Given the description of an element on the screen output the (x, y) to click on. 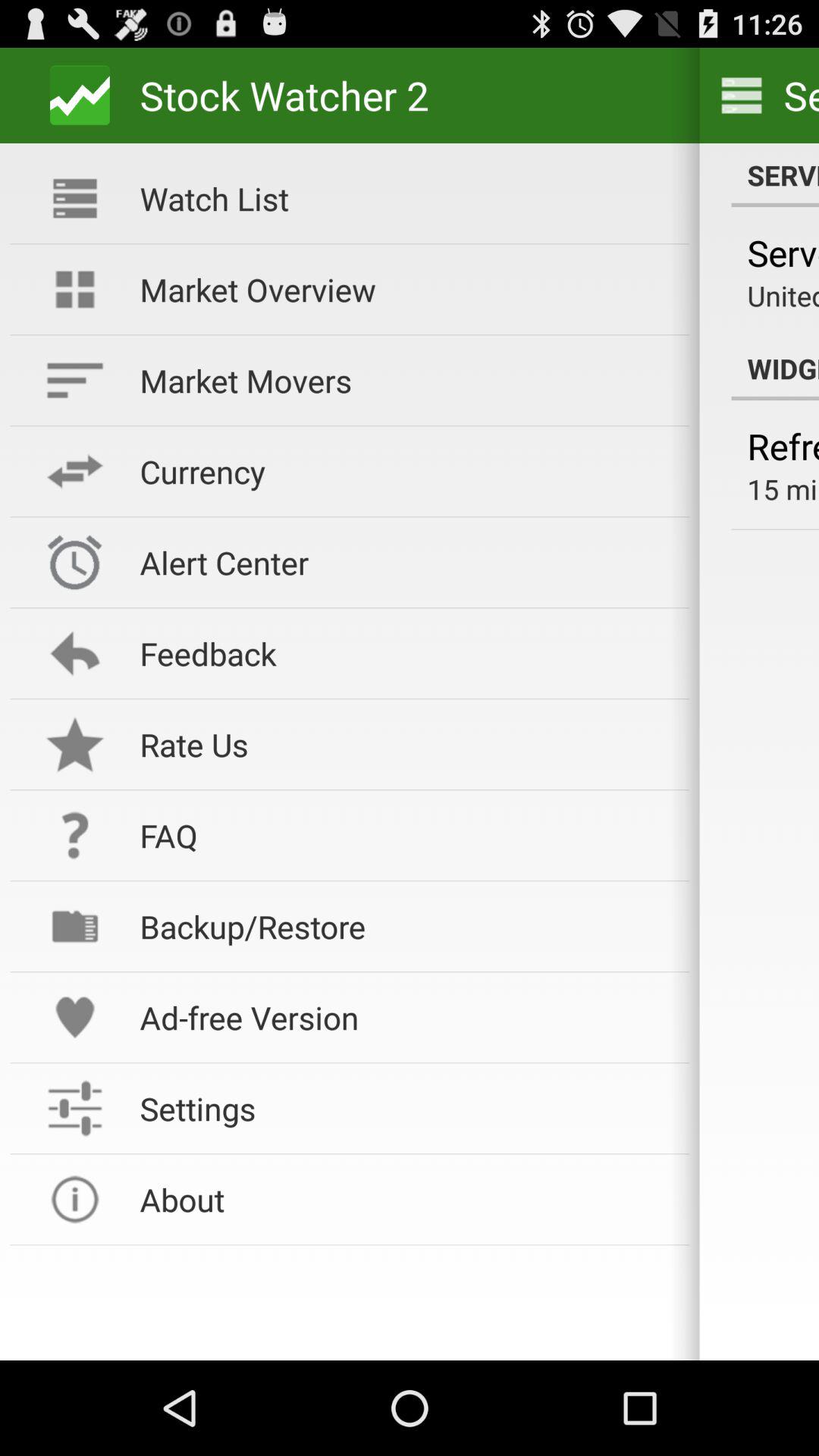
open icon to the left of the widgets item (404, 380)
